Given the description of an element on the screen output the (x, y) to click on. 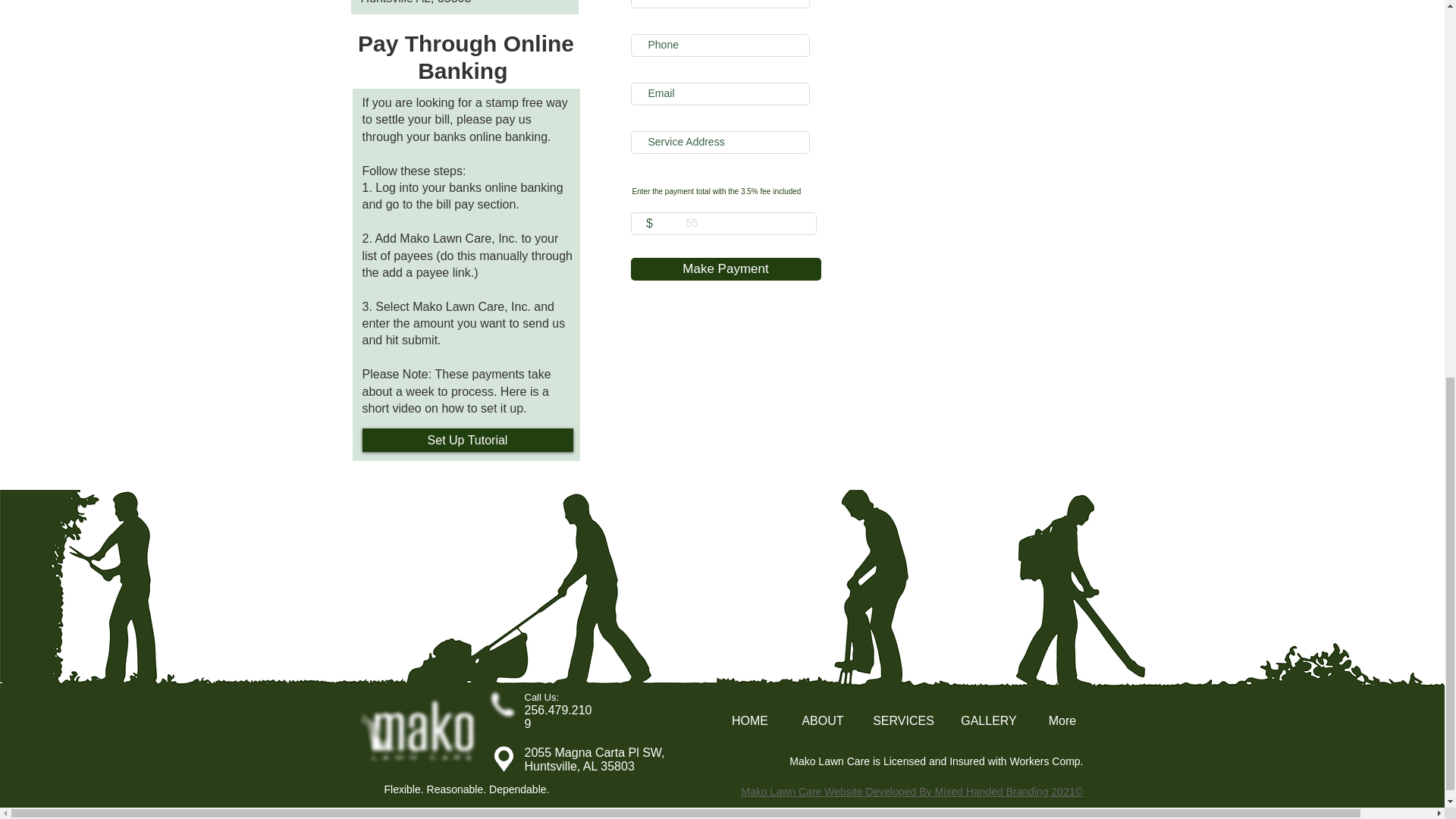
256.479.2109 (558, 716)
Set Up Tutorial (467, 440)
SERVICES (903, 720)
HOME (749, 720)
GALLERY (988, 720)
Call Us: (541, 696)
55 (723, 223)
ABOUT (823, 720)
2055 Magna Carta Pl SW, (594, 752)
Make Payment (725, 268)
Huntsville, AL 35803 (579, 766)
